Given the description of an element on the screen output the (x, y) to click on. 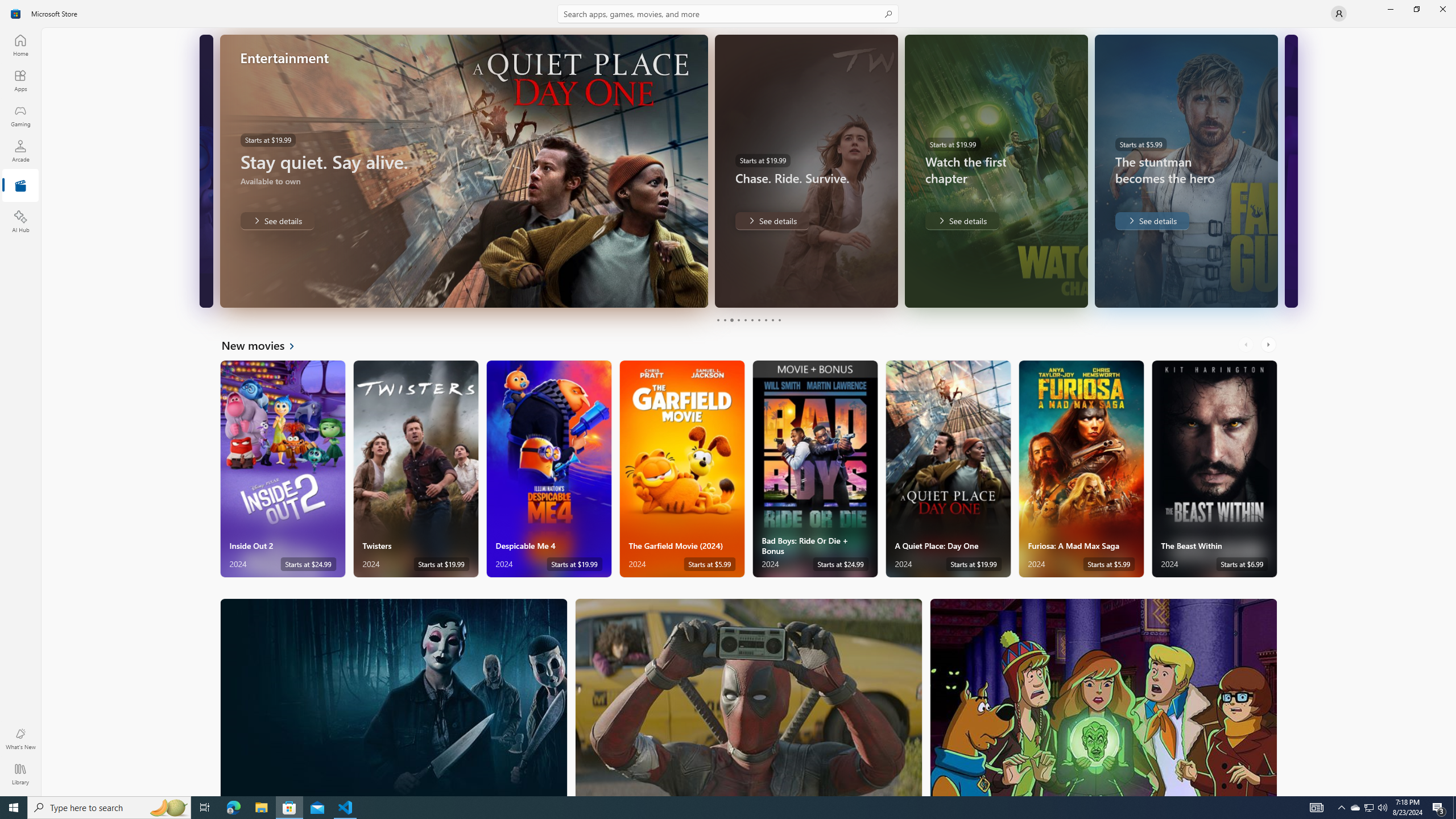
Action & Adventure (749, 697)
Bad Boys: Ride Or Die + Bonus. Starts at $24.99   (814, 469)
AutomationID: LeftScrollButton (1246, 344)
Page 10 (779, 319)
Family (1102, 697)
The Garfield Movie (2024). Starts at $5.99   (681, 469)
AutomationID: Image (1290, 170)
Page 2 (724, 319)
Page 1 (717, 319)
Page 7 (758, 319)
Search (727, 13)
Page 5 (744, 319)
